Given the description of an element on the screen output the (x, y) to click on. 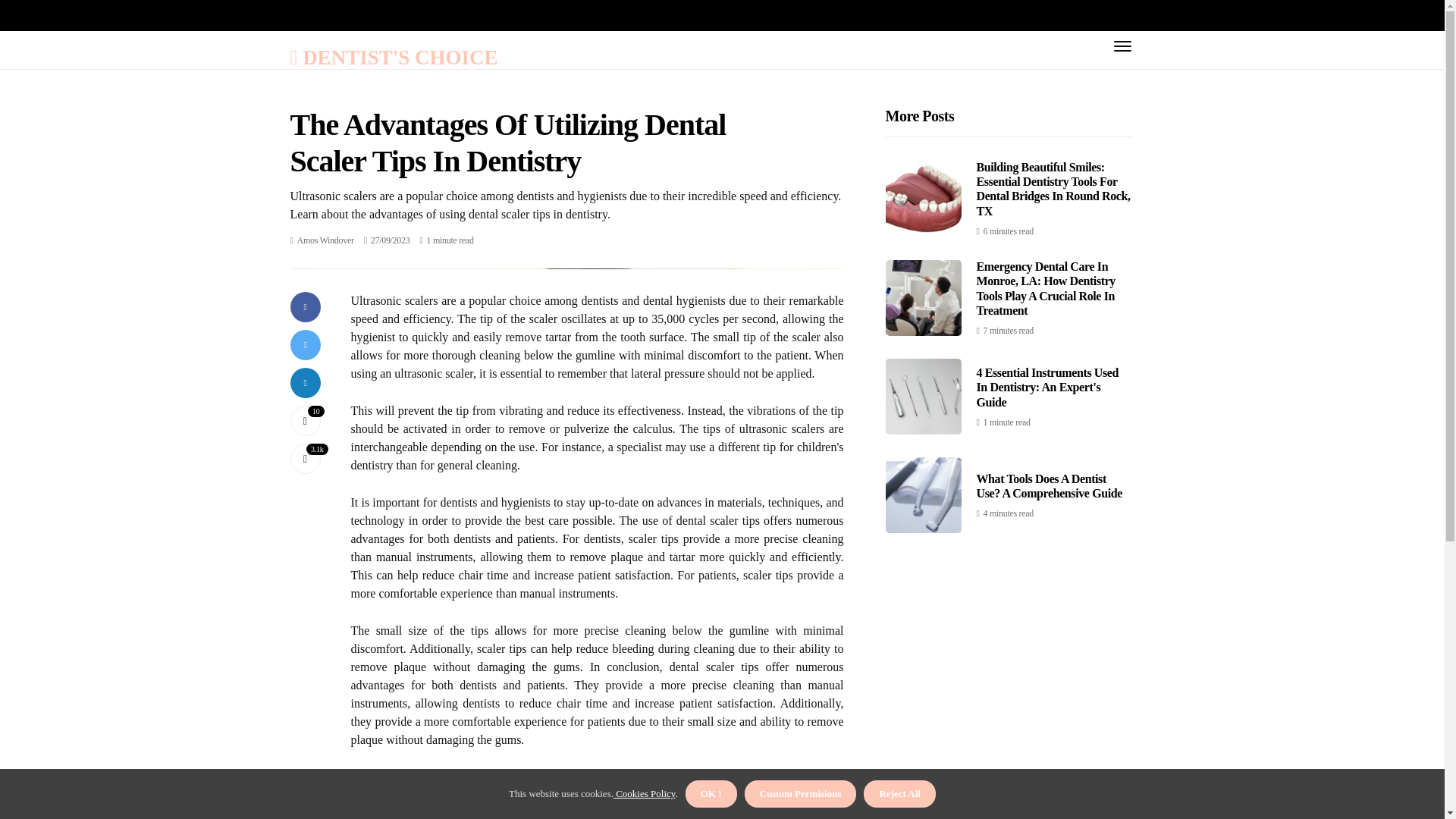
4 Essential Instruments Used In Dentistry: An Expert'S Guide (1047, 386)
Posts by Amos Windover (325, 240)
Like (304, 420)
10 (304, 420)
DENTIST'S CHOICE (393, 56)
What Tools Does A Dentist Use? A Comprehensive Guide (1049, 485)
Amos Windover (325, 240)
